Given the description of an element on the screen output the (x, y) to click on. 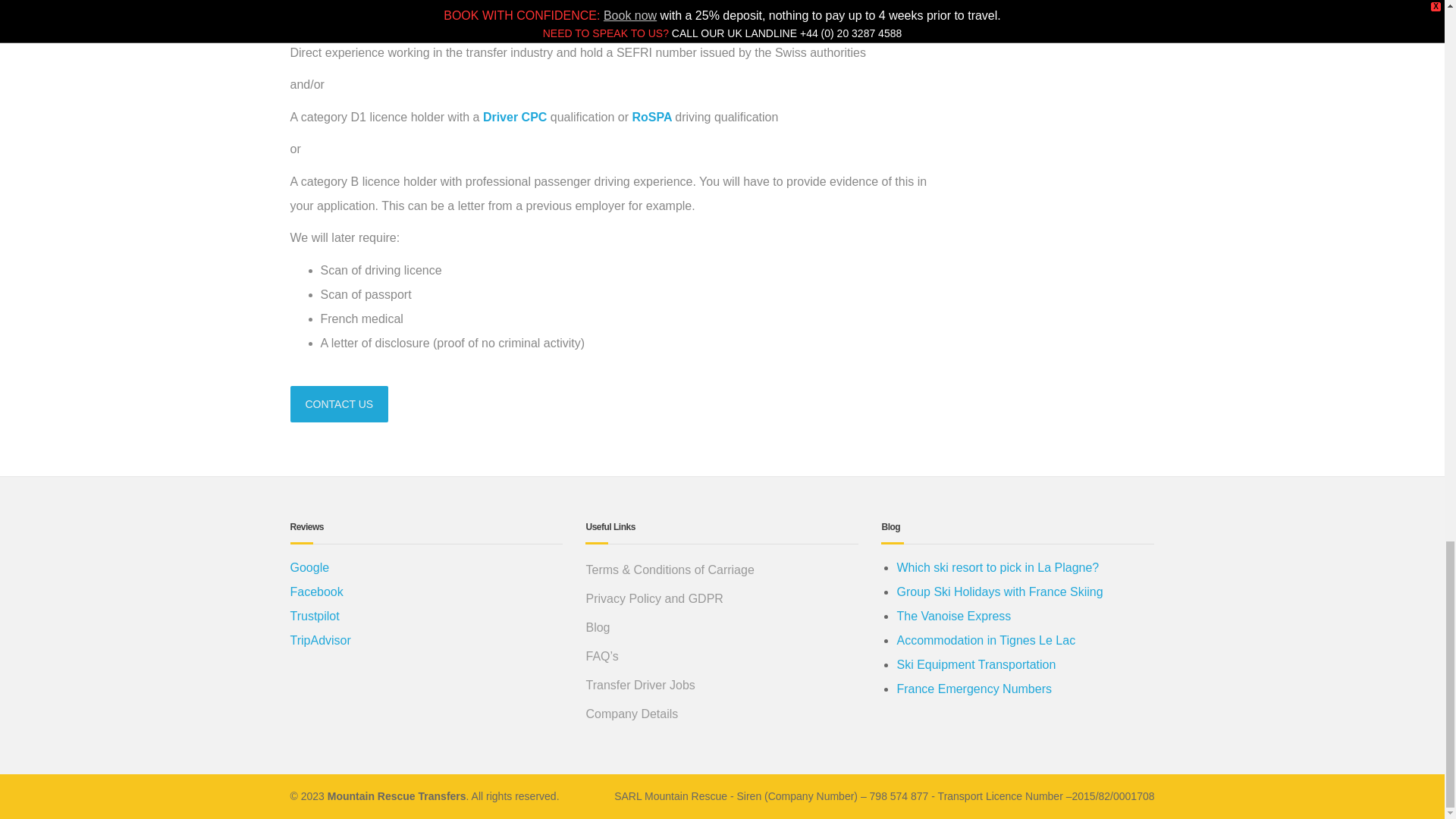
The Vanoise Express (953, 615)
Carte de Sejour (392, 19)
Facebook (315, 591)
France Emergency Numbers (973, 688)
RoSPA (653, 116)
Ski Equipment Transportation (975, 664)
Accommodation in Tignes Le Lac (985, 640)
Privacy Policy and GDPR (722, 598)
Driver CPC (515, 116)
Google (309, 567)
Which ski resort to pick in La Plagne? (997, 567)
CONTACT US (338, 403)
Trustpilot (314, 615)
Transfer Driver Jobs (722, 685)
TripAdvisor (319, 640)
